Given the description of an element on the screen output the (x, y) to click on. 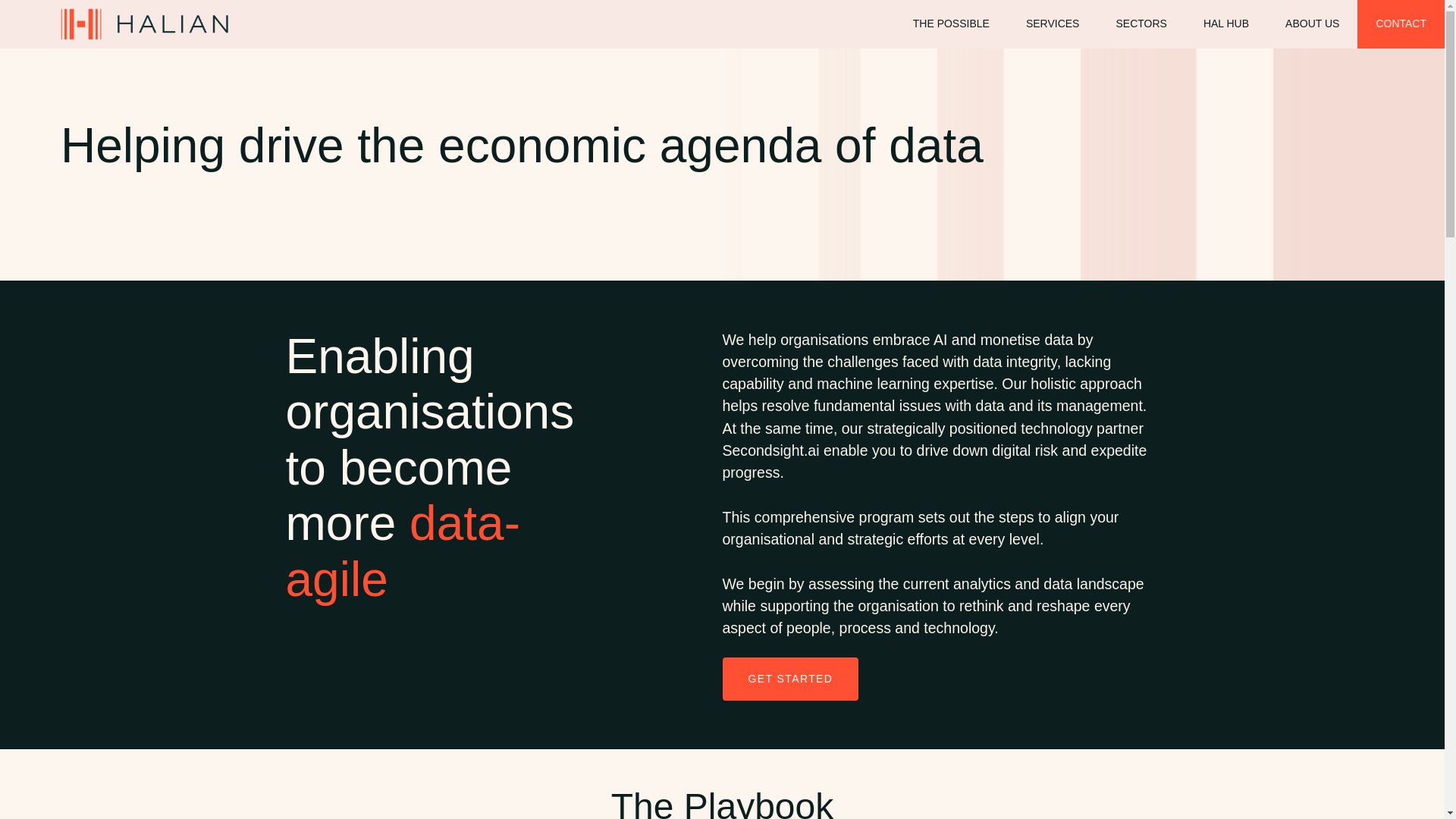
THE POSSIBLE (951, 24)
HAL HUB (1225, 24)
SECTORS (1141, 24)
SERVICES (1052, 24)
ABOUT US (1311, 24)
GET STARTED (790, 679)
